Given the description of an element on the screen output the (x, y) to click on. 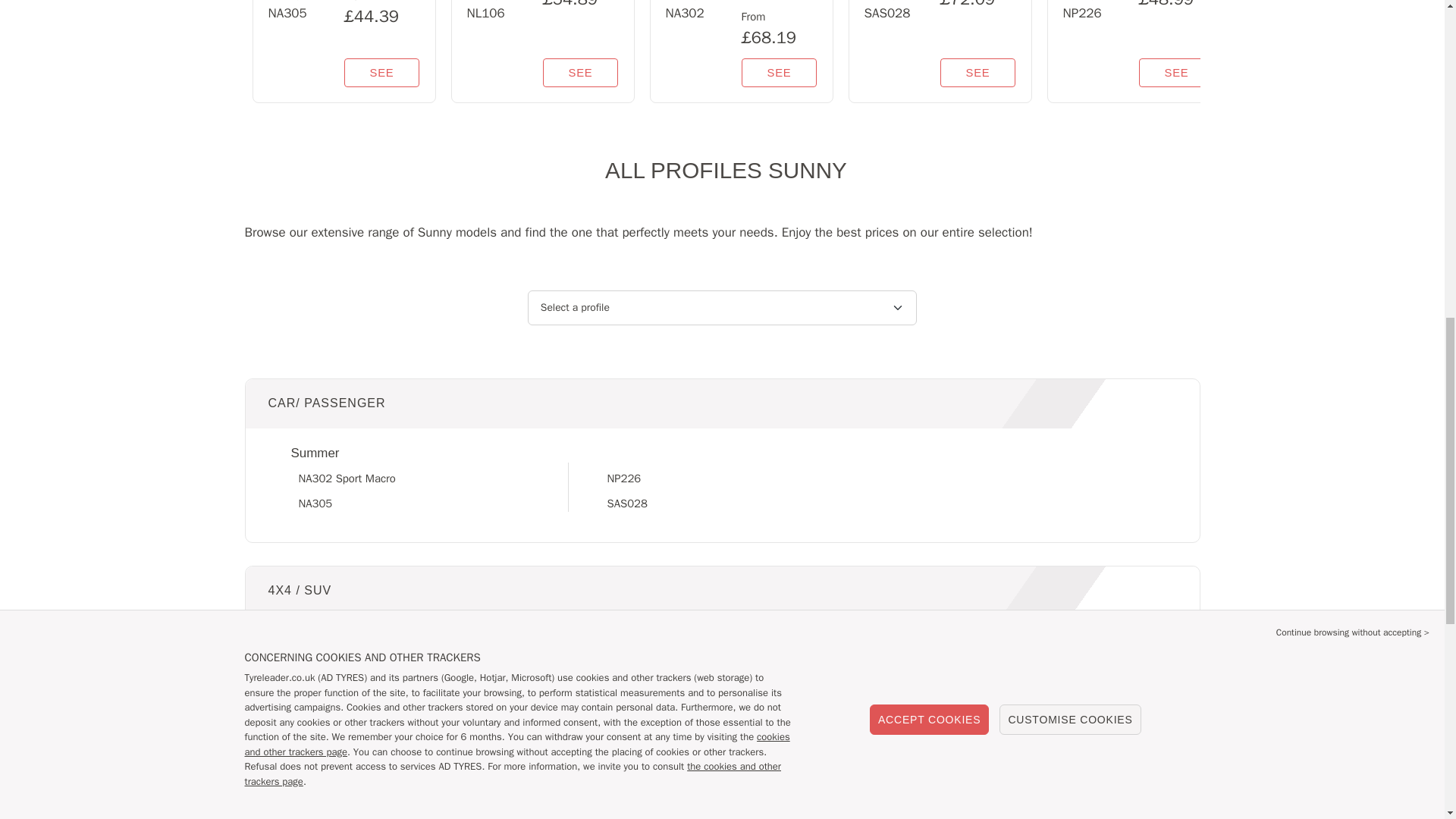
NU025 (315, 665)
SEE (1176, 72)
SEE (580, 72)
SEE (381, 72)
NA305 (315, 503)
NA302 Sport Macro (347, 478)
SEE (978, 72)
NP226 (623, 478)
SEE (778, 72)
SAS028 (626, 503)
